Given the description of an element on the screen output the (x, y) to click on. 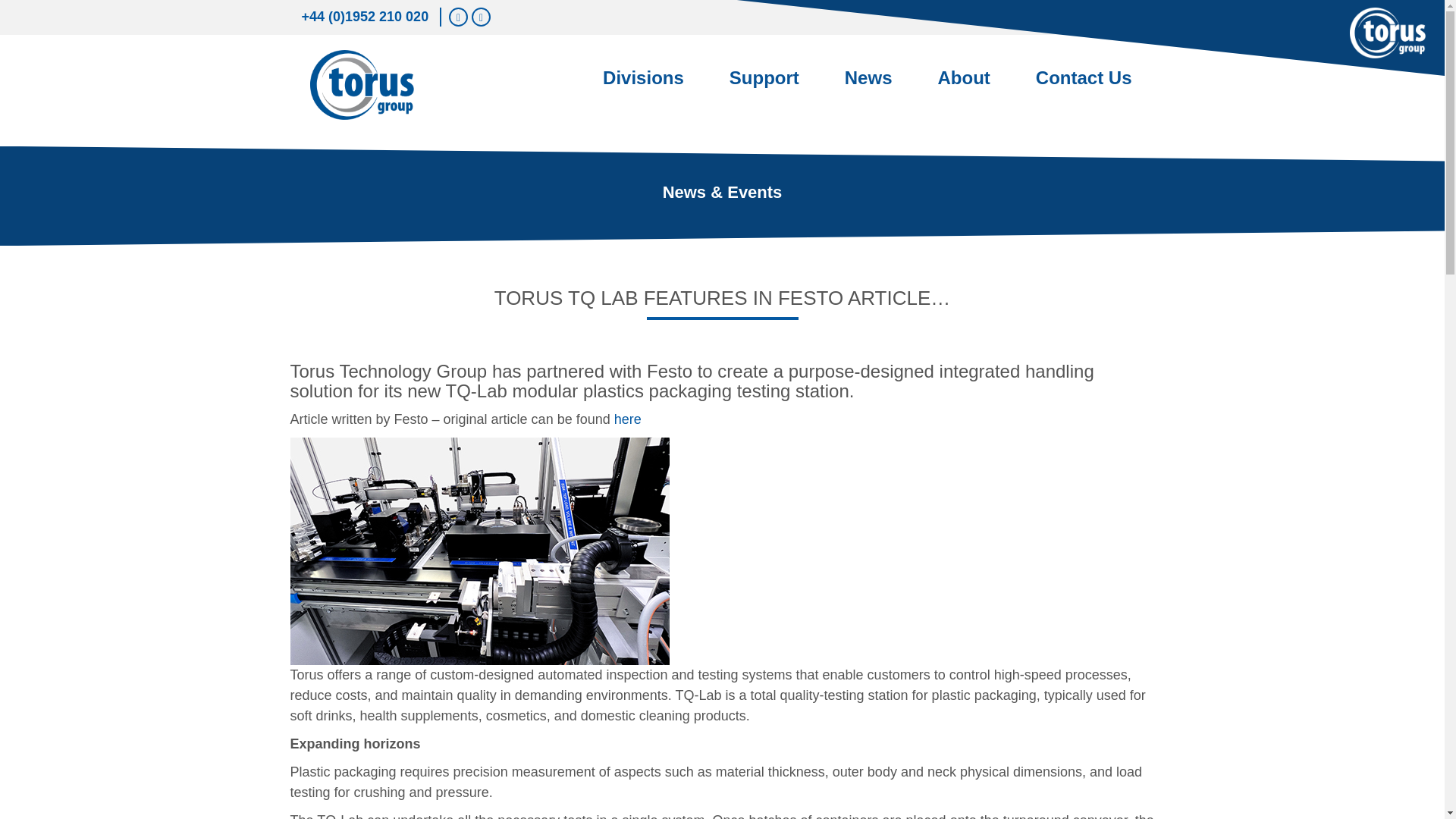
News (868, 85)
Divisions (642, 85)
About (962, 85)
Support (764, 85)
Contact Us (1083, 85)
here (628, 418)
